Given the description of an element on the screen output the (x, y) to click on. 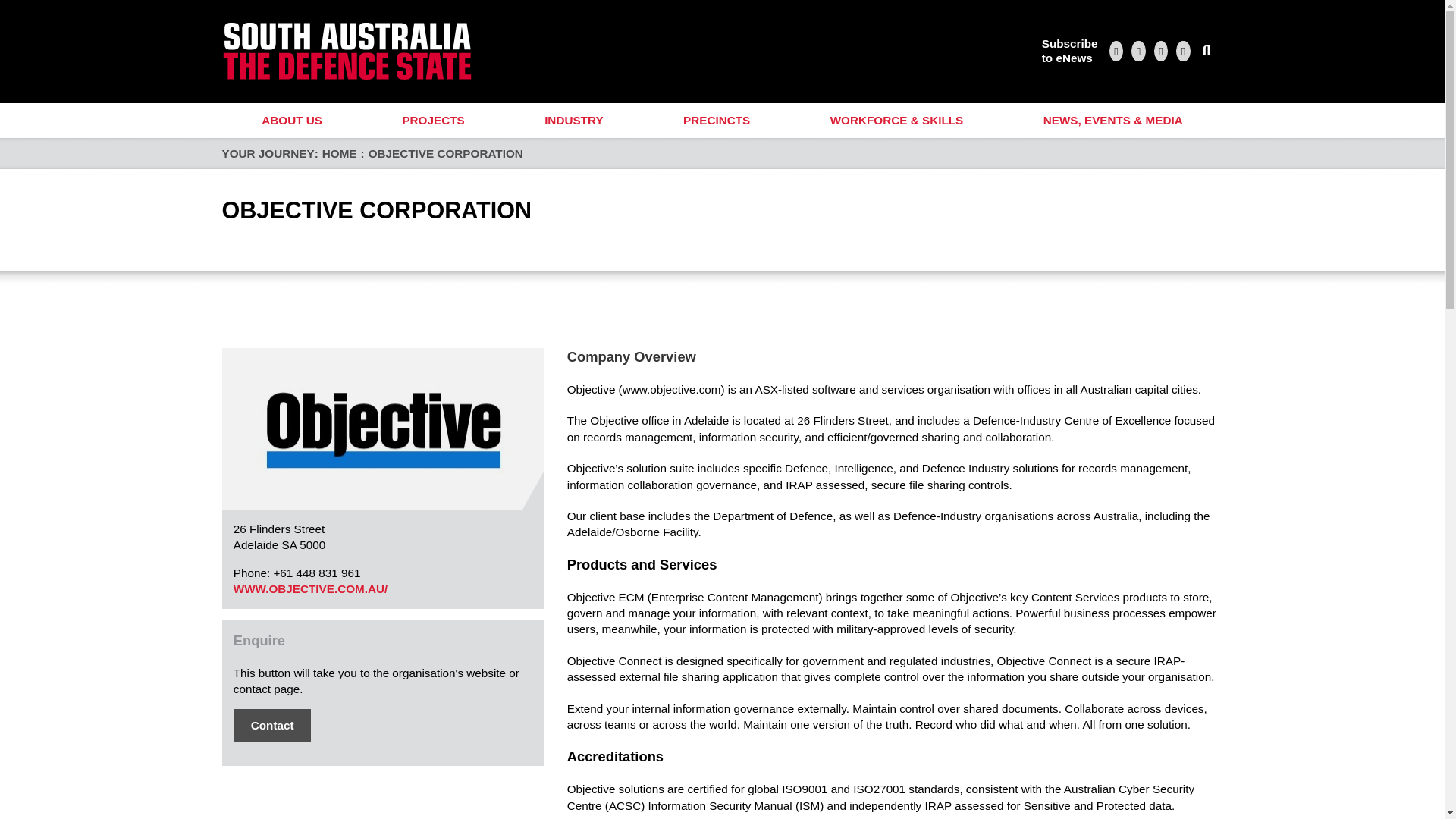
INDUSTRY (573, 120)
ABOUT US (291, 120)
Contact this organisation (1069, 50)
PROJECTS (271, 725)
Search (433, 120)
